Given the description of an element on the screen output the (x, y) to click on. 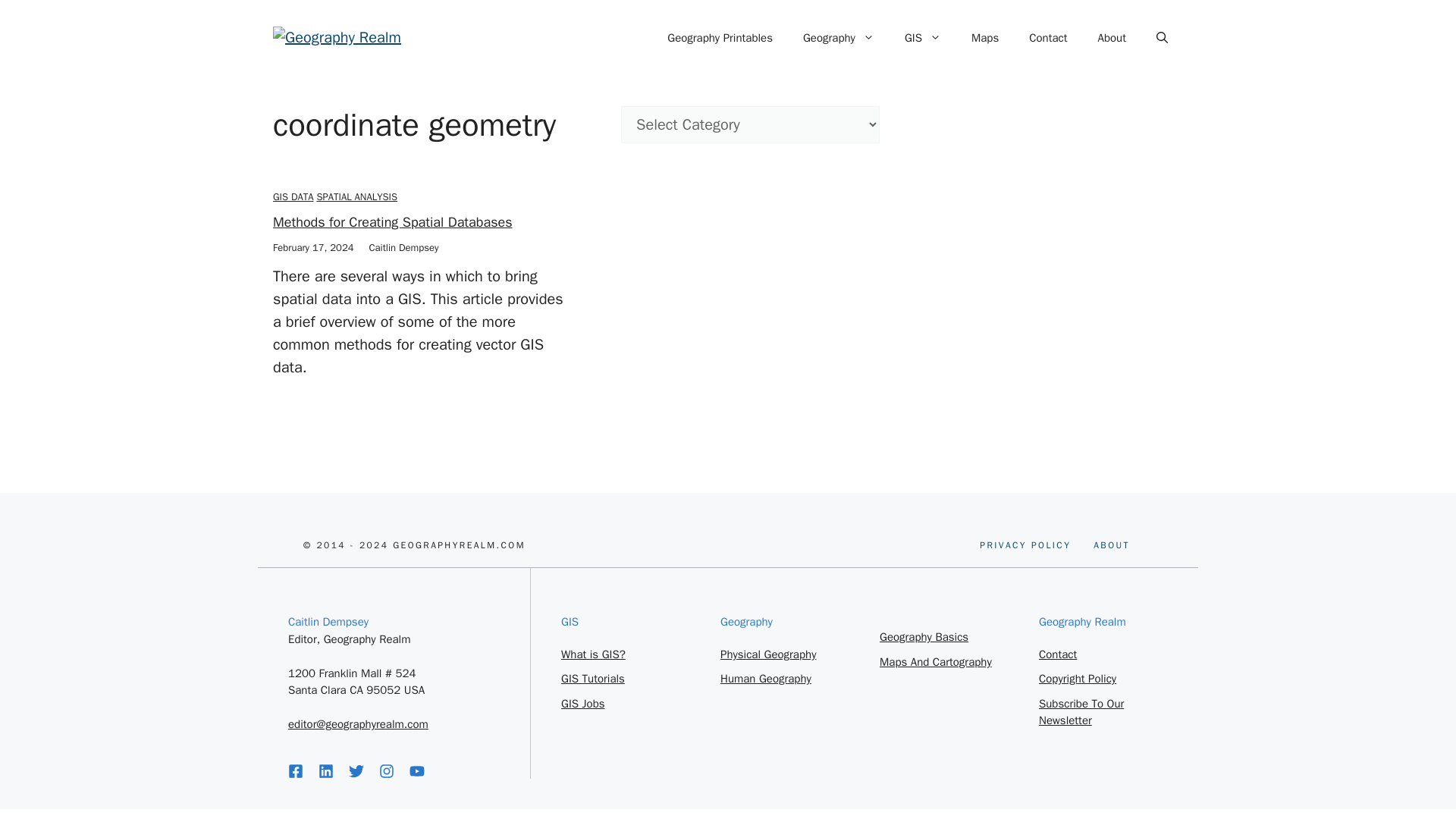
Human Geography (765, 678)
Geography (838, 37)
Physical Geography (767, 653)
GIS Tutorials (592, 678)
GIS Jobs (582, 703)
GIS DATA (293, 196)
Maps (984, 37)
About (1112, 37)
Contact (1058, 653)
SPATIAL ANALYSIS (1111, 545)
Geography Basics (356, 196)
GIS (923, 636)
Methods for Creating Spatial Databases (922, 37)
Contact (392, 221)
